Given the description of an element on the screen output the (x, y) to click on. 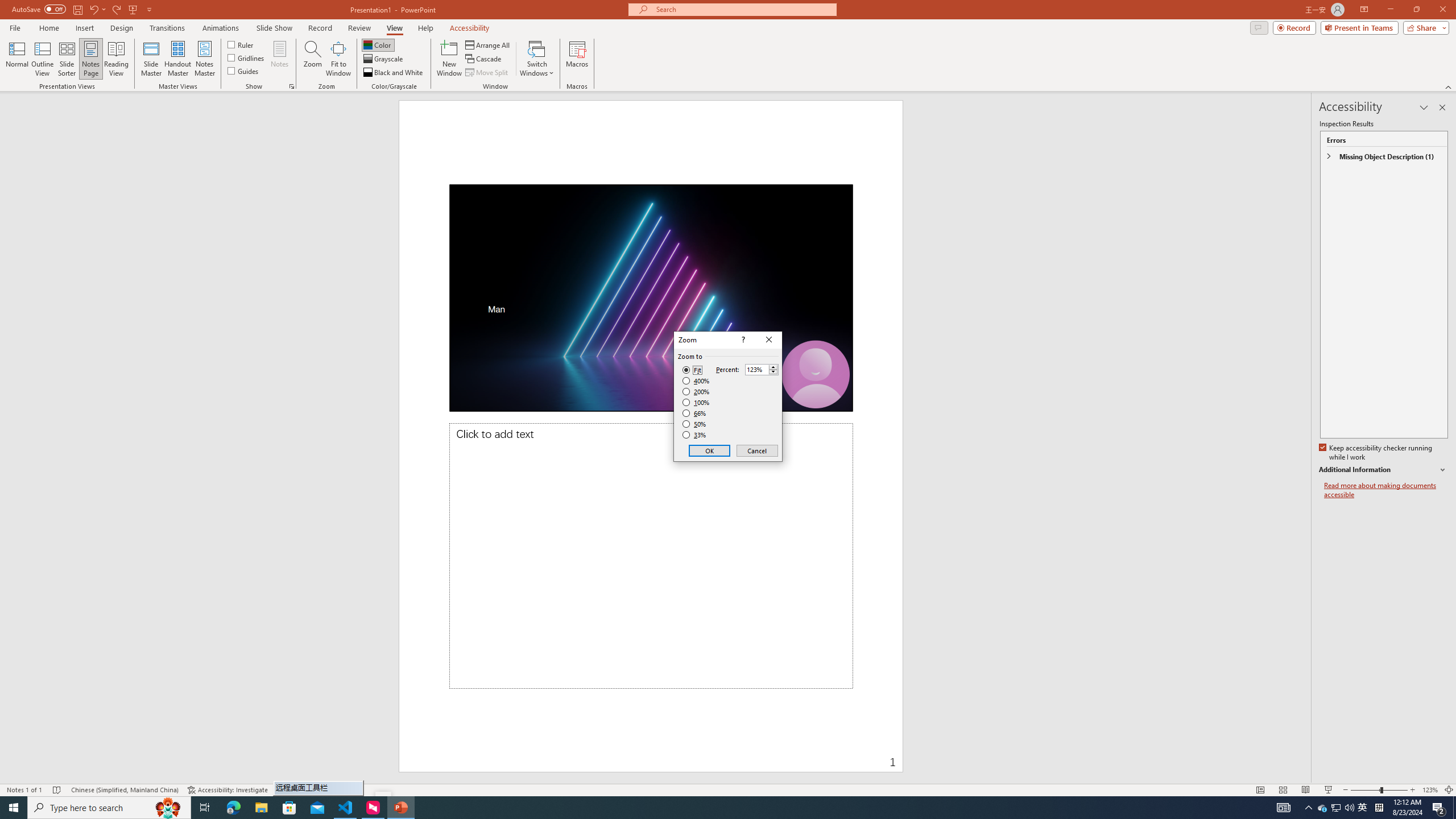
Page Number (793, 754)
Grayscale (383, 58)
Fit to Window (338, 58)
Handout Master (1322, 807)
Switch Windows (177, 58)
